Given the description of an element on the screen output the (x, y) to click on. 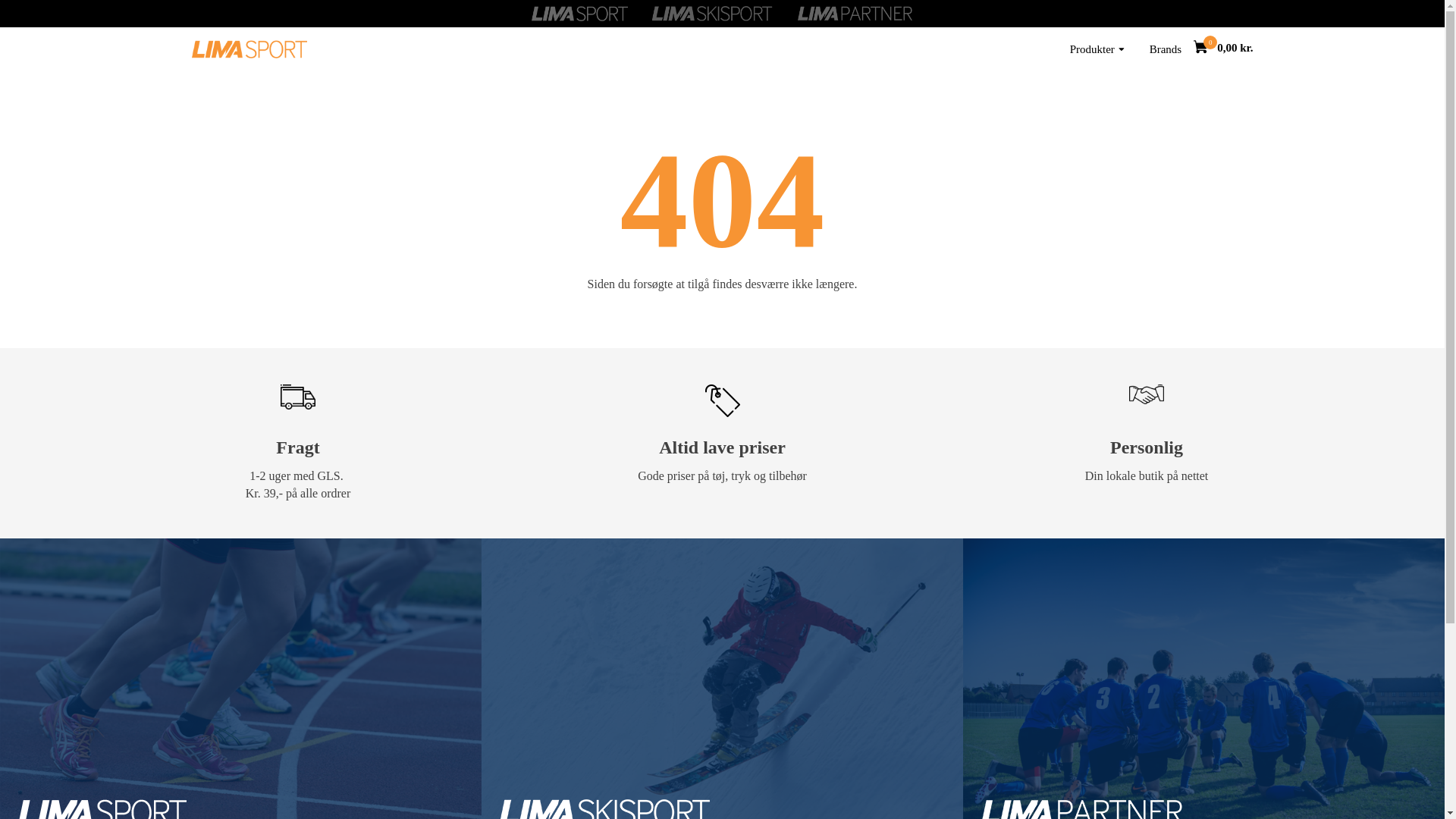
Produkter (1097, 49)
Go to Cart (1205, 48)
Brands (1165, 49)
